Given the description of an element on the screen output the (x, y) to click on. 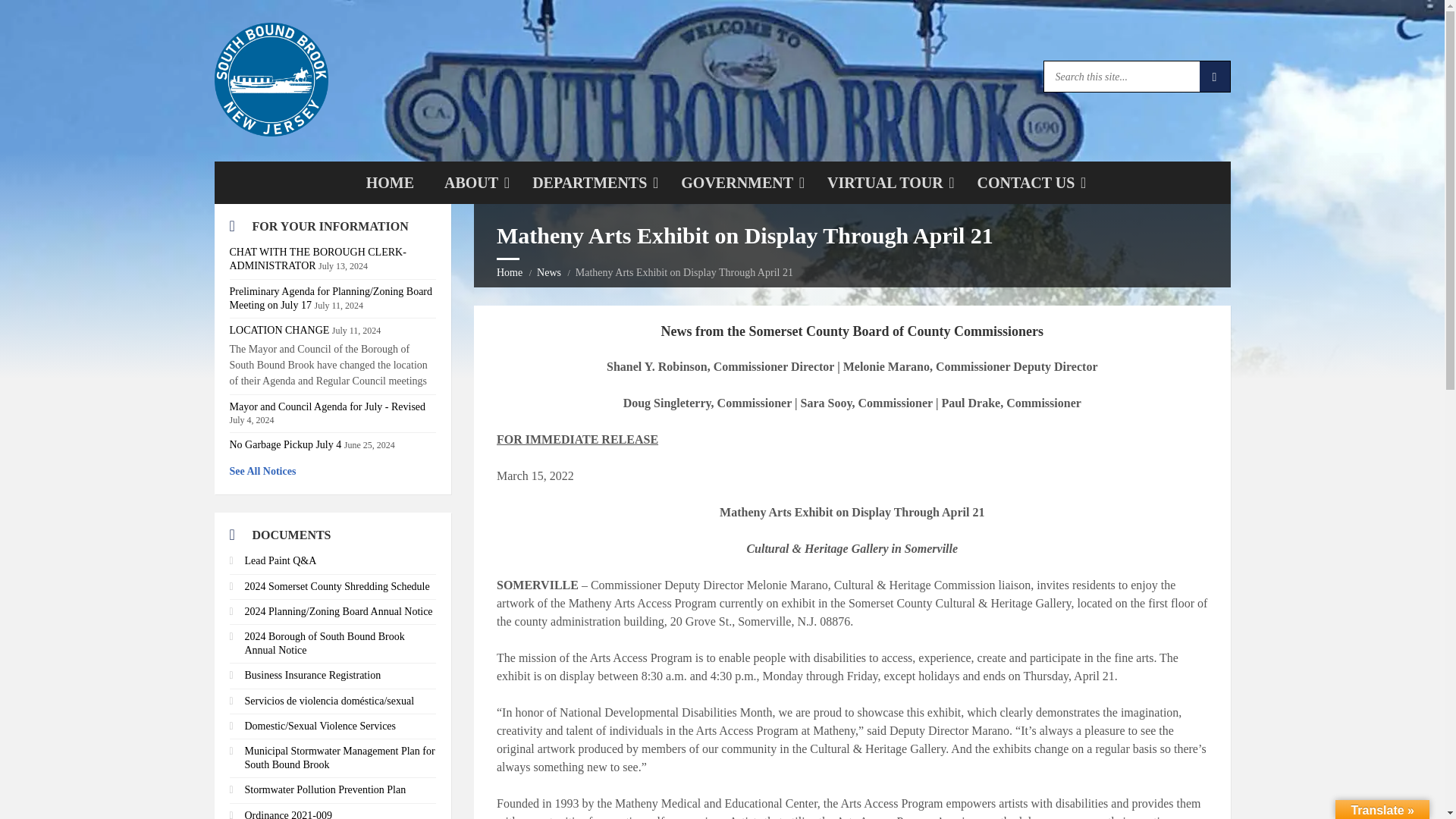
HOME (722, 182)
DEPARTMENTS (389, 182)
ABOUT (590, 182)
GOVERNMENT (472, 182)
